Given the description of an element on the screen output the (x, y) to click on. 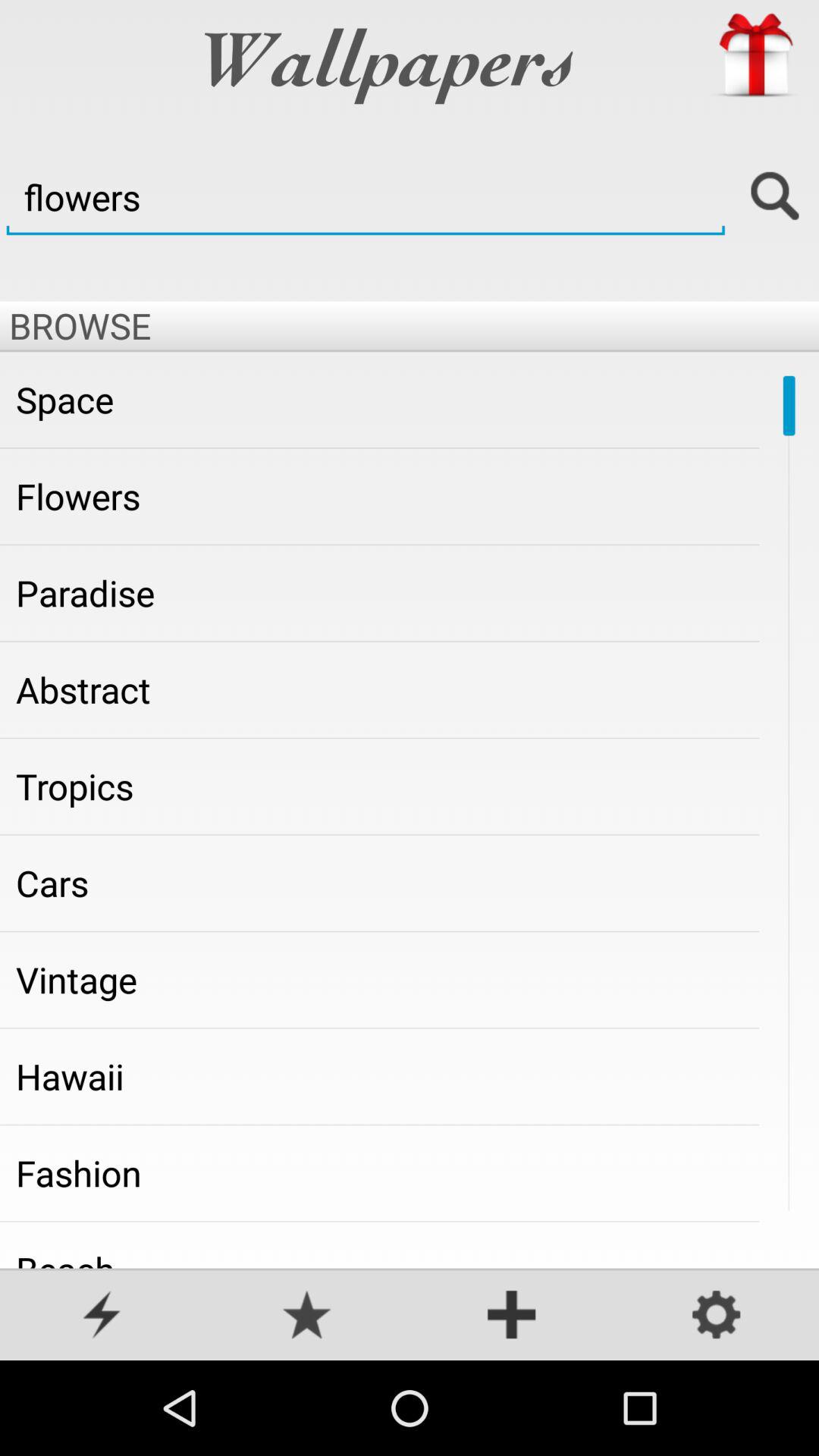
add the option (511, 1316)
